Given the description of an element on the screen output the (x, y) to click on. 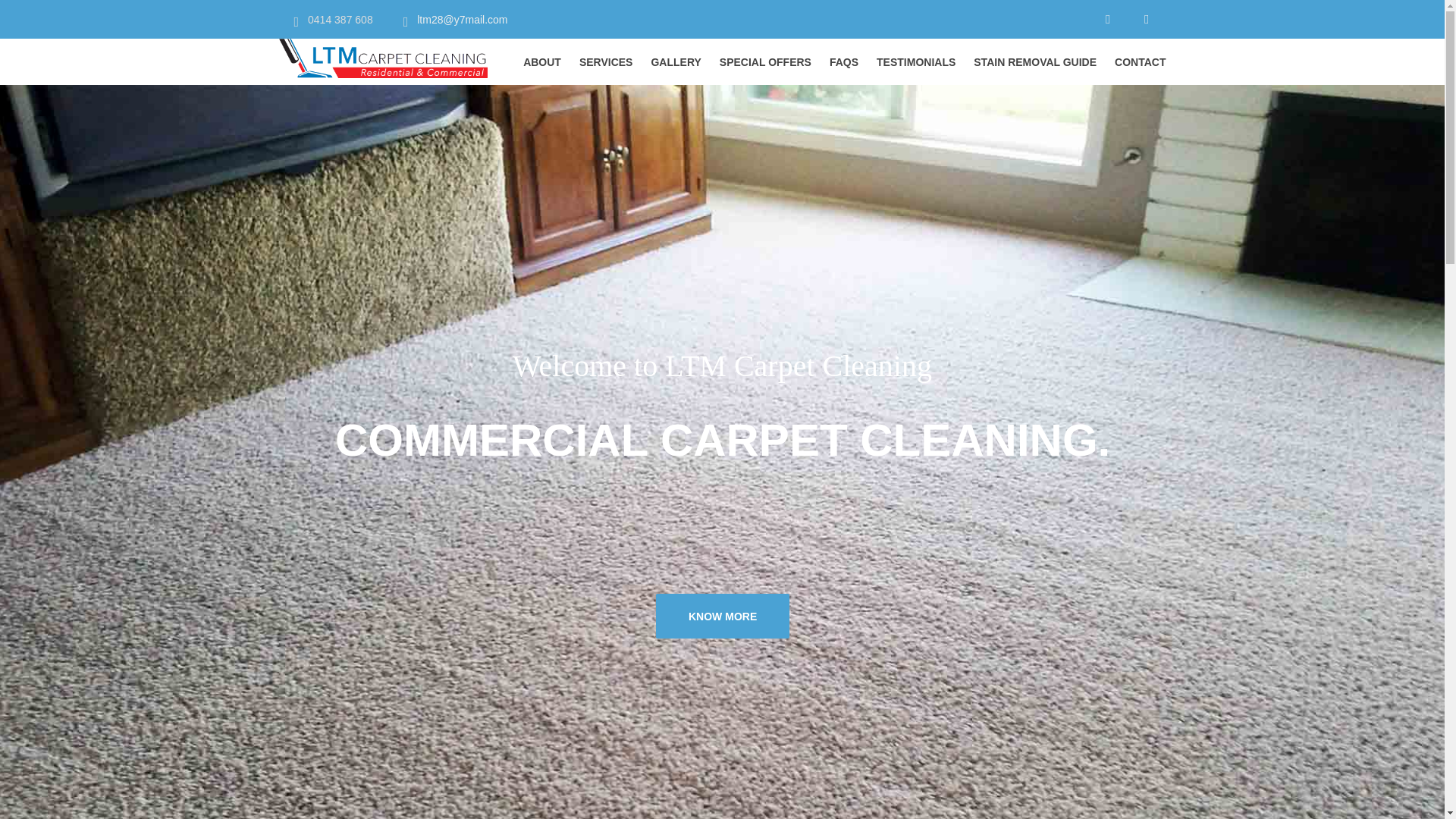
FAQS Element type: text (843, 61)
STAIN REMOVAL GUIDE Element type: text (1034, 61)
SERVICES Element type: text (606, 61)
ltm28@y7mail.com Element type: text (462, 19)
CONTACT Element type: text (1139, 61)
TESTIMONIALS Element type: text (915, 61)
KNOW MORE Element type: text (721, 615)
ABOUT Element type: text (542, 61)
GALLERY Element type: text (675, 61)
SPECIAL OFFERS Element type: text (765, 61)
